Given the description of an element on the screen output the (x, y) to click on. 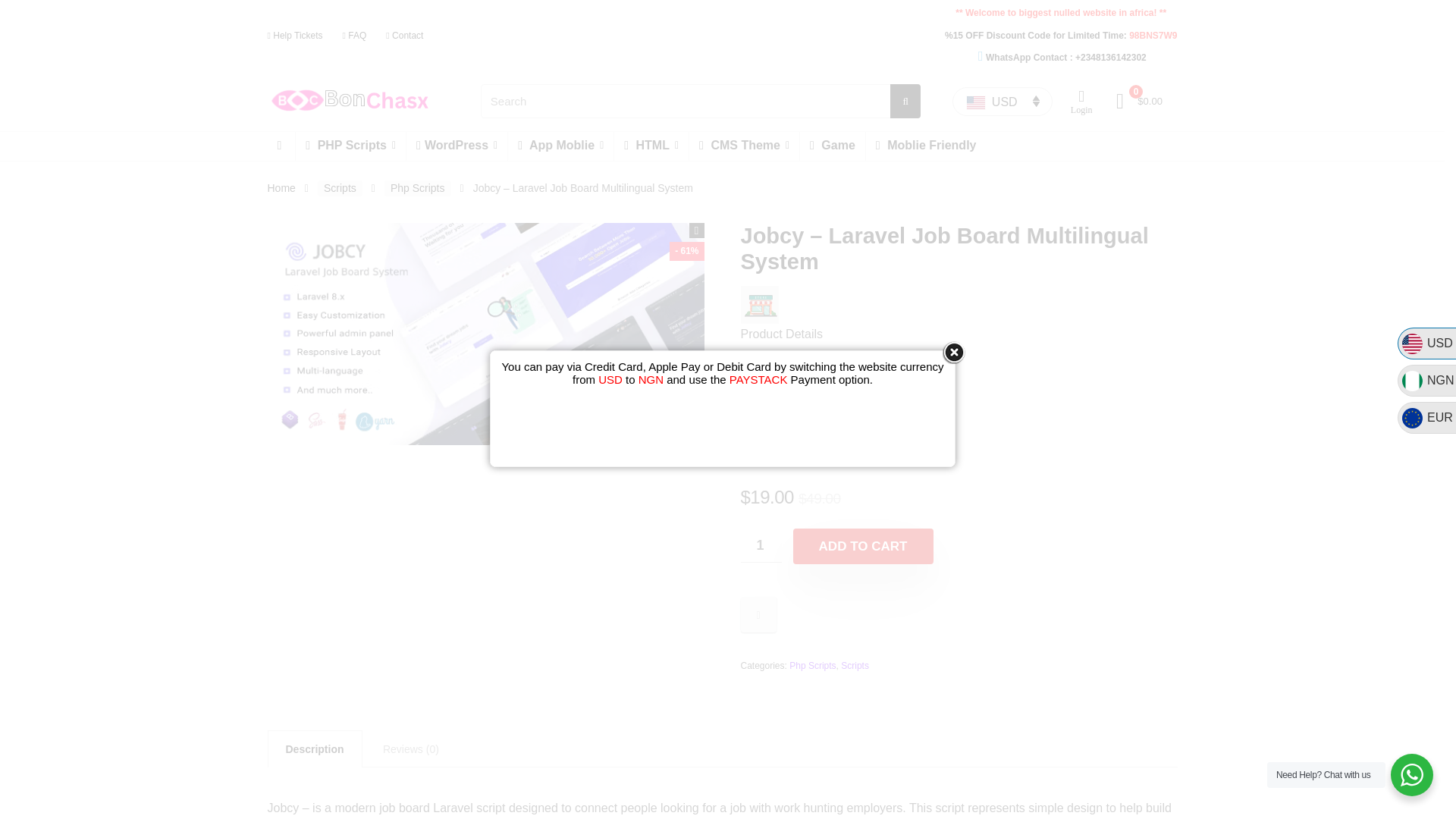
WordPress (456, 145)
App Moblie (560, 145)
Php Scripts (812, 665)
CMS Theme (743, 145)
FAQ (354, 35)
HTML (651, 145)
FAQ (922, 452)
1 (759, 545)
Game (831, 145)
Home (280, 187)
